Given the description of an element on the screen output the (x, y) to click on. 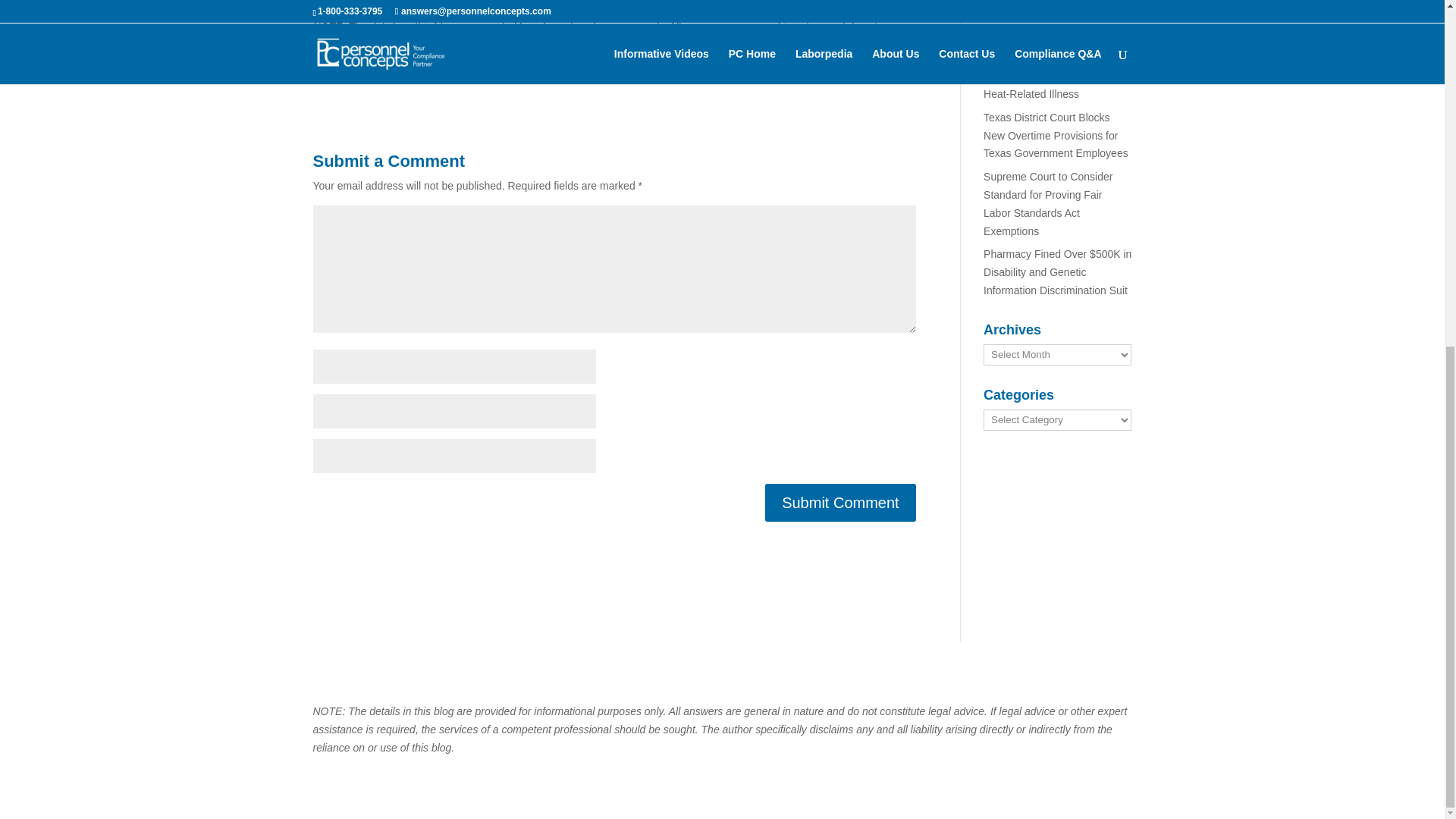
Submit Comment (840, 502)
Submit Comment (840, 502)
